Given the description of an element on the screen output the (x, y) to click on. 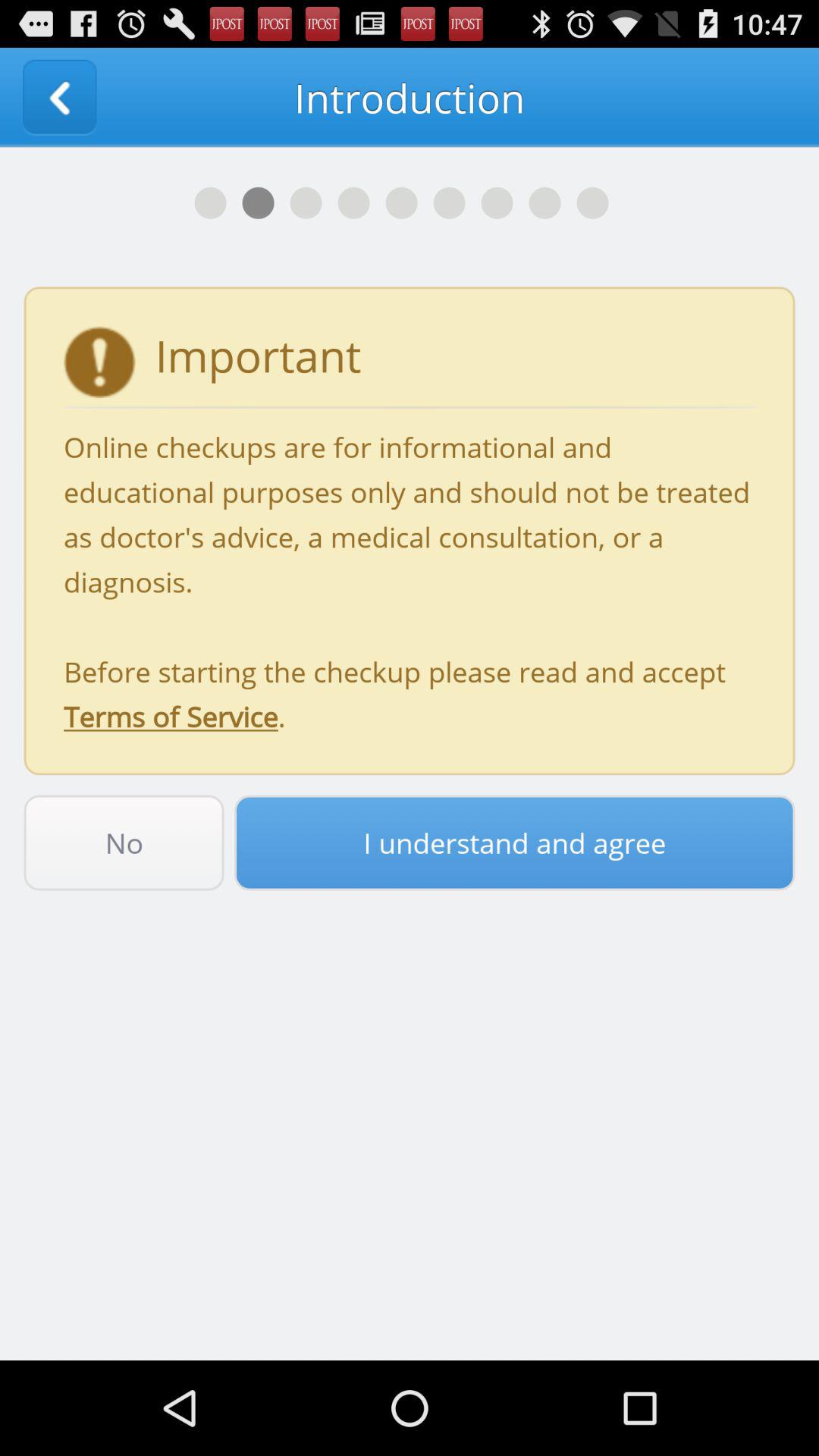
select the icon below online checkups are item (514, 842)
